Given the description of an element on the screen output the (x, y) to click on. 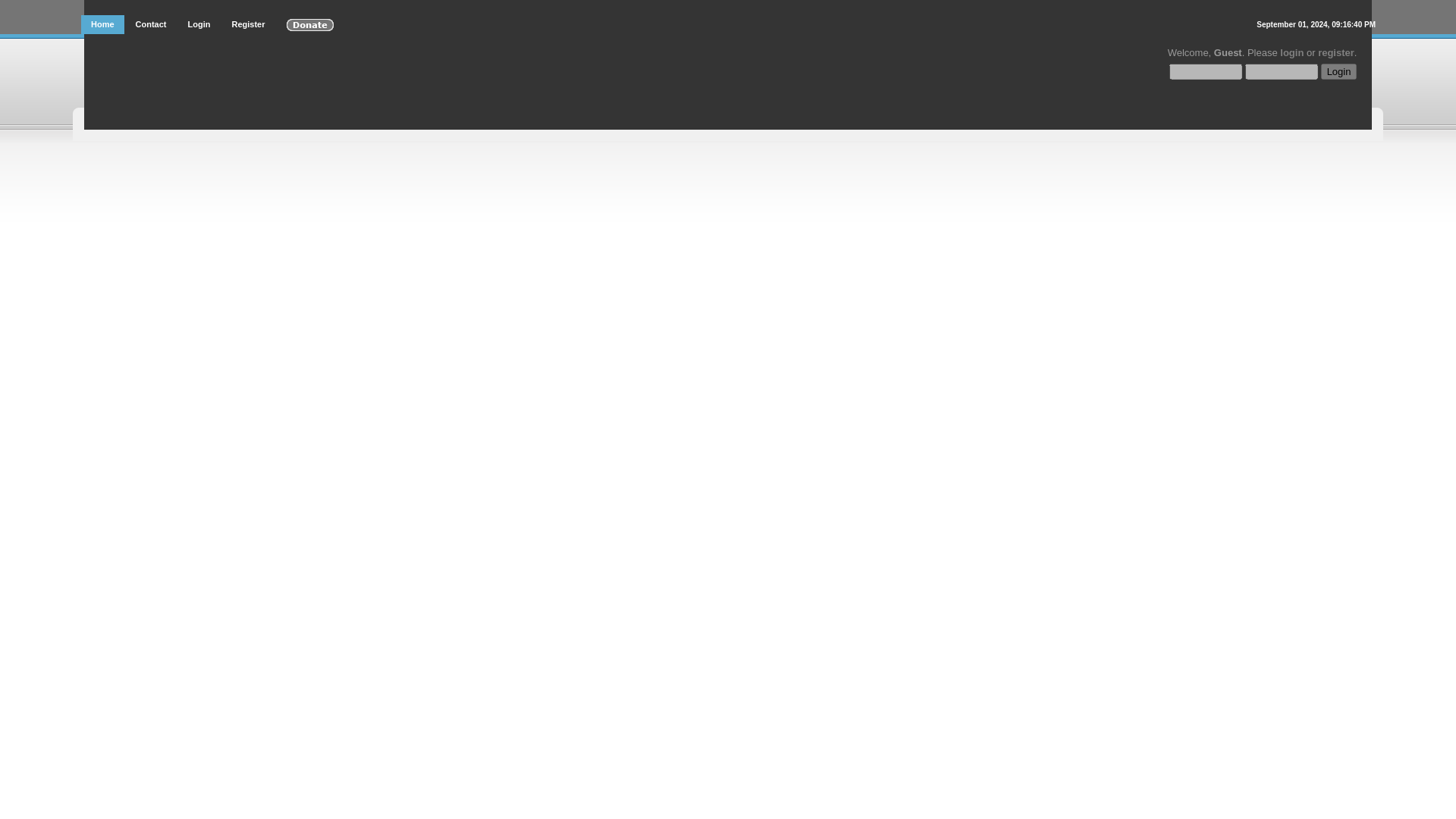
register (1335, 52)
Login (1338, 71)
login (1291, 52)
Login (1338, 71)
Register (248, 24)
Contact (150, 24)
Login (199, 24)
Home (102, 24)
